Given the description of an element on the screen output the (x, y) to click on. 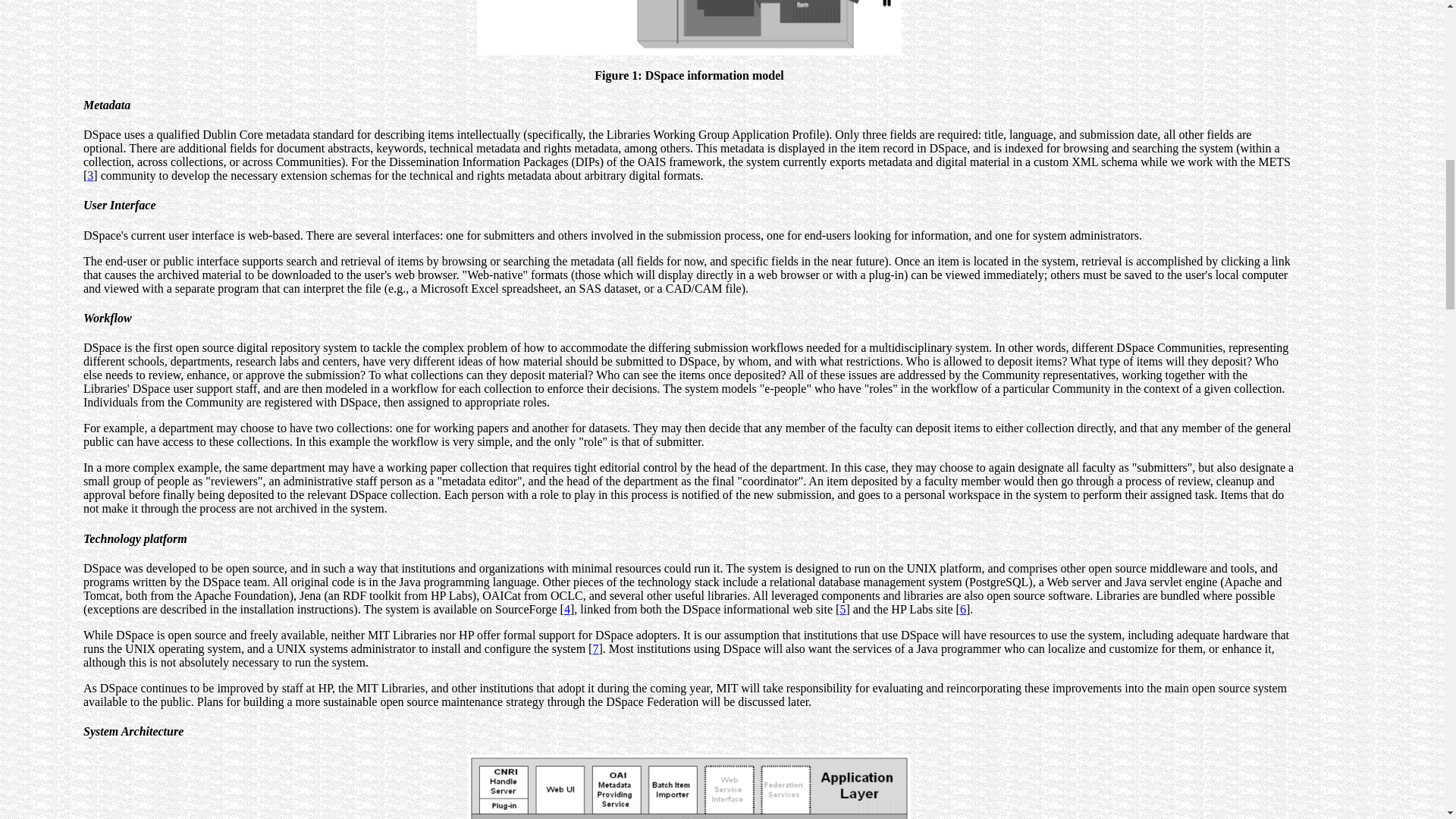
5 (842, 608)
4 (567, 608)
7 (595, 648)
3 (90, 174)
6 (962, 608)
